Given the description of an element on the screen output the (x, y) to click on. 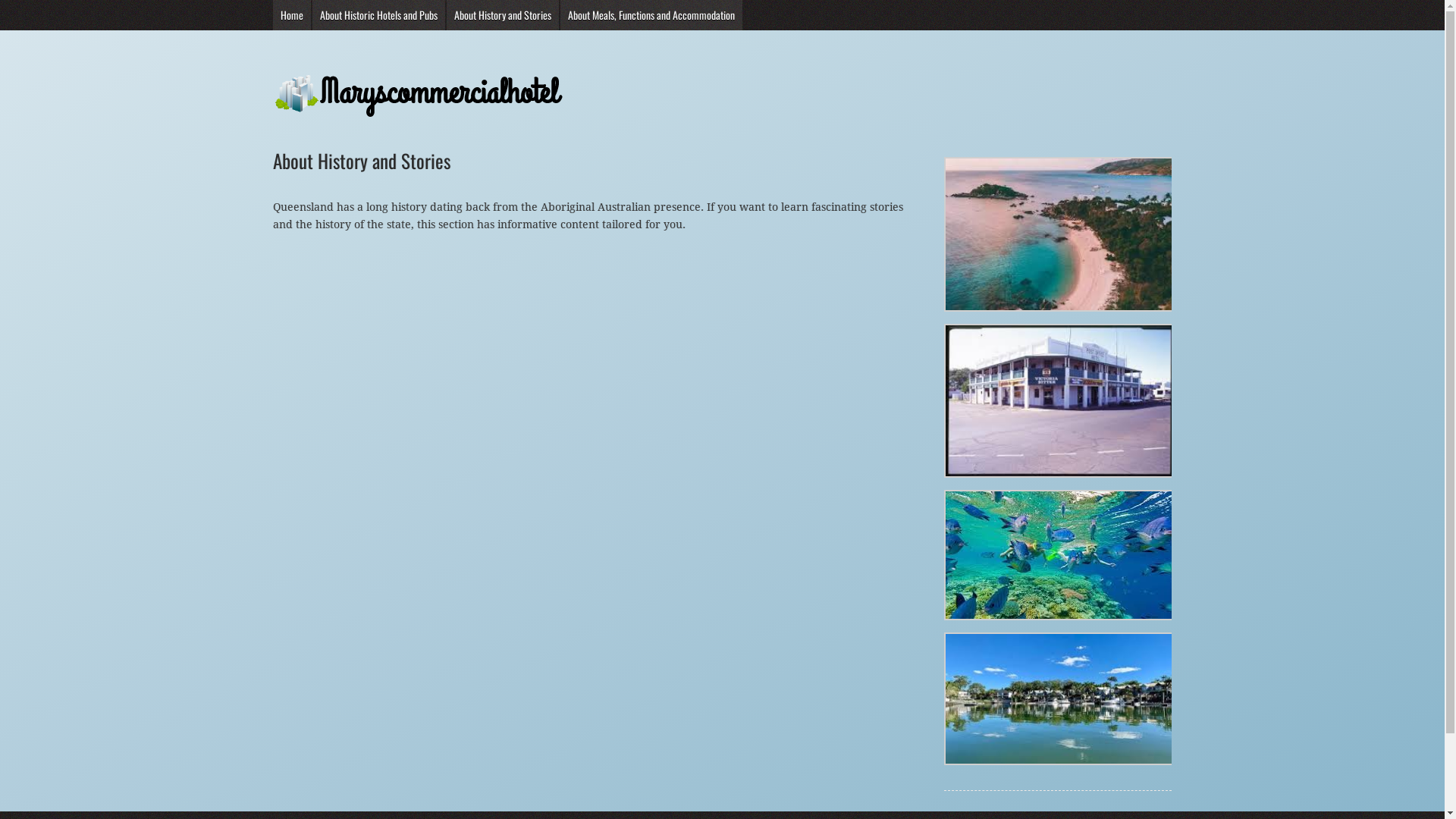
About Meals, Functions and Accommodation Element type: text (651, 15)
About Historic Hotels and Pubs Element type: text (378, 15)
About History and Stories Element type: text (502, 15)
Home Element type: text (291, 15)
